Given the description of an element on the screen output the (x, y) to click on. 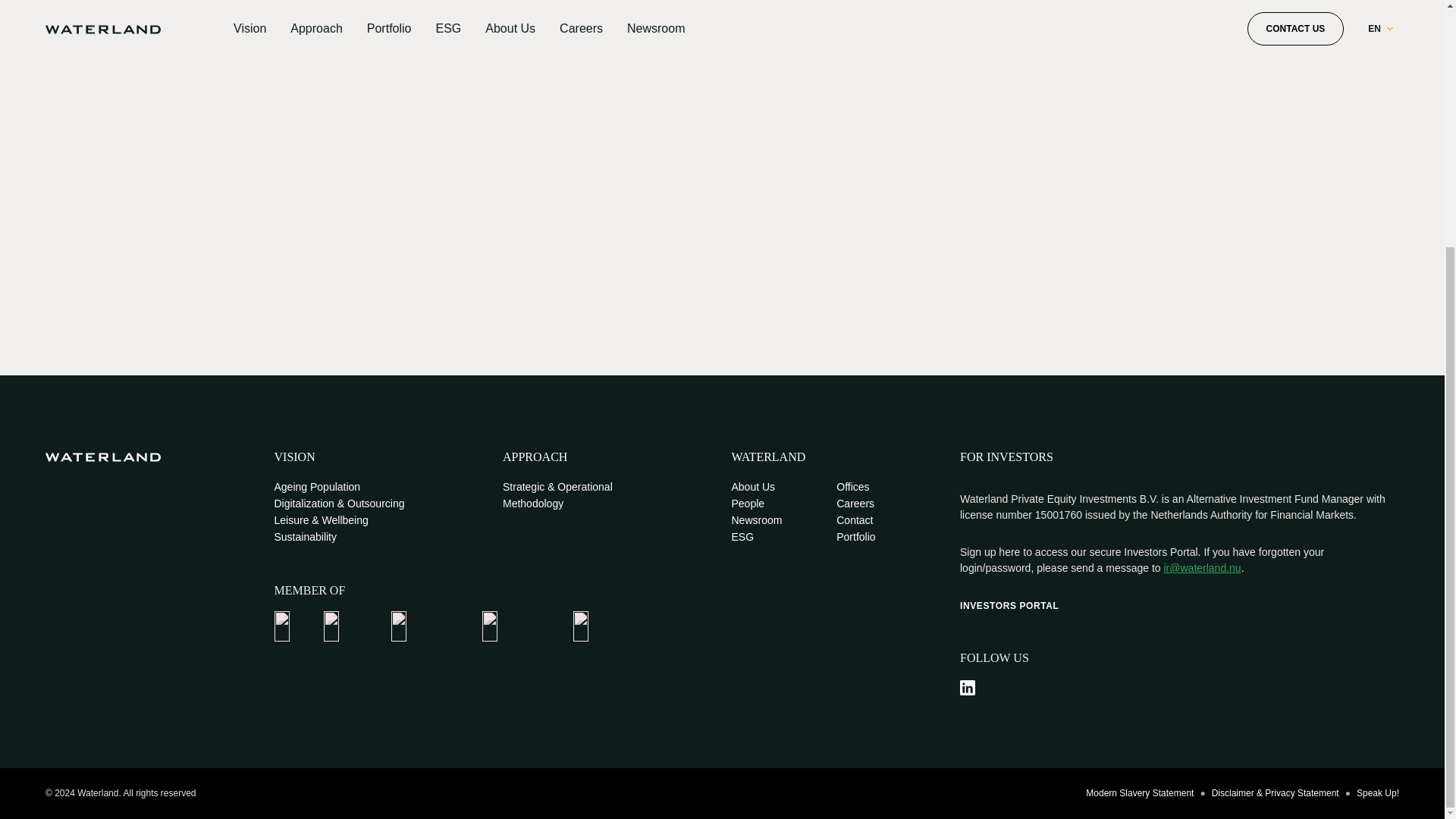
Sustainability (306, 537)
Careers (855, 504)
APPROACH (534, 456)
Portfolio (855, 537)
Newsroom (755, 520)
Offices (852, 487)
Contact (853, 520)
About Us (752, 487)
Ageing Population (318, 487)
People (747, 504)
WATERLAND (767, 456)
Methodology (532, 504)
ESG (742, 537)
VISION (295, 456)
INVESTORS PORTAL (1009, 605)
